Given the description of an element on the screen output the (x, y) to click on. 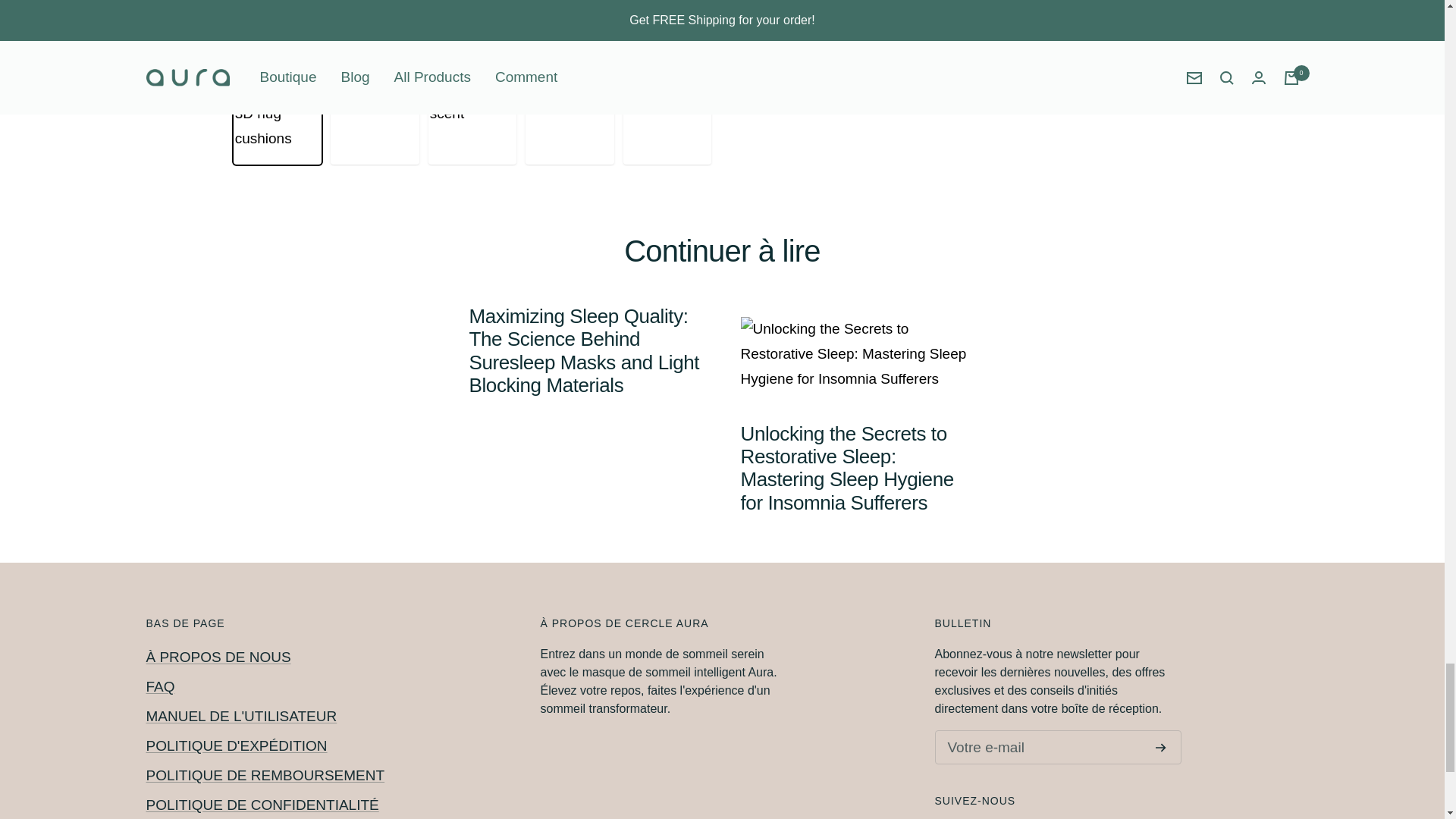
S'inscrire (1161, 747)
